Given the description of an element on the screen output the (x, y) to click on. 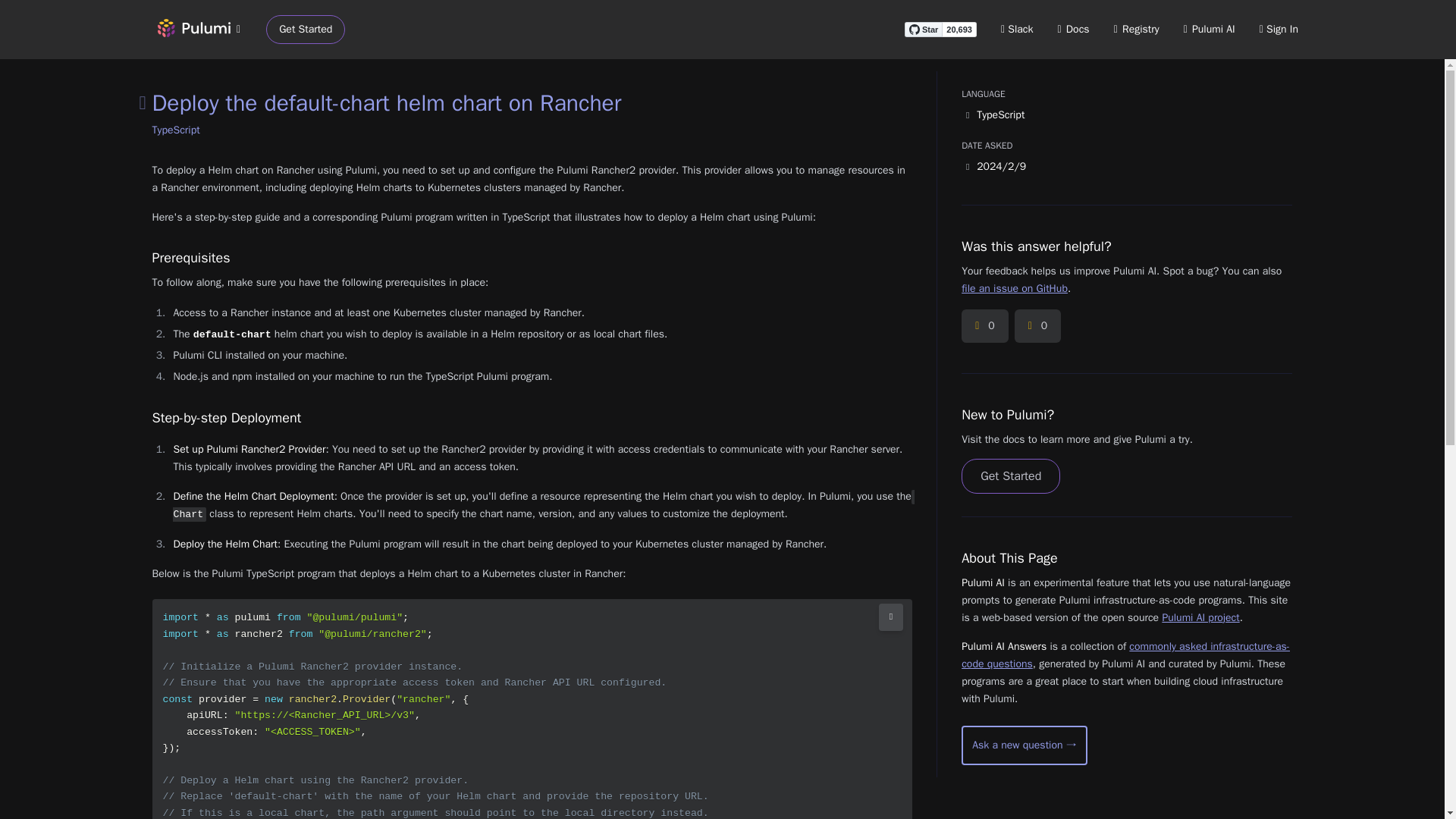
file an issue on GitHub (1013, 287)
Registry (1135, 29)
Start a new conversation with Pulumi AI (1023, 744)
Get Started (305, 29)
0 (984, 326)
 Star (923, 29)
20,693 (959, 29)
Slack (1017, 29)
Downvote this answer (1037, 326)
Upvote this answer (984, 326)
